Given the description of an element on the screen output the (x, y) to click on. 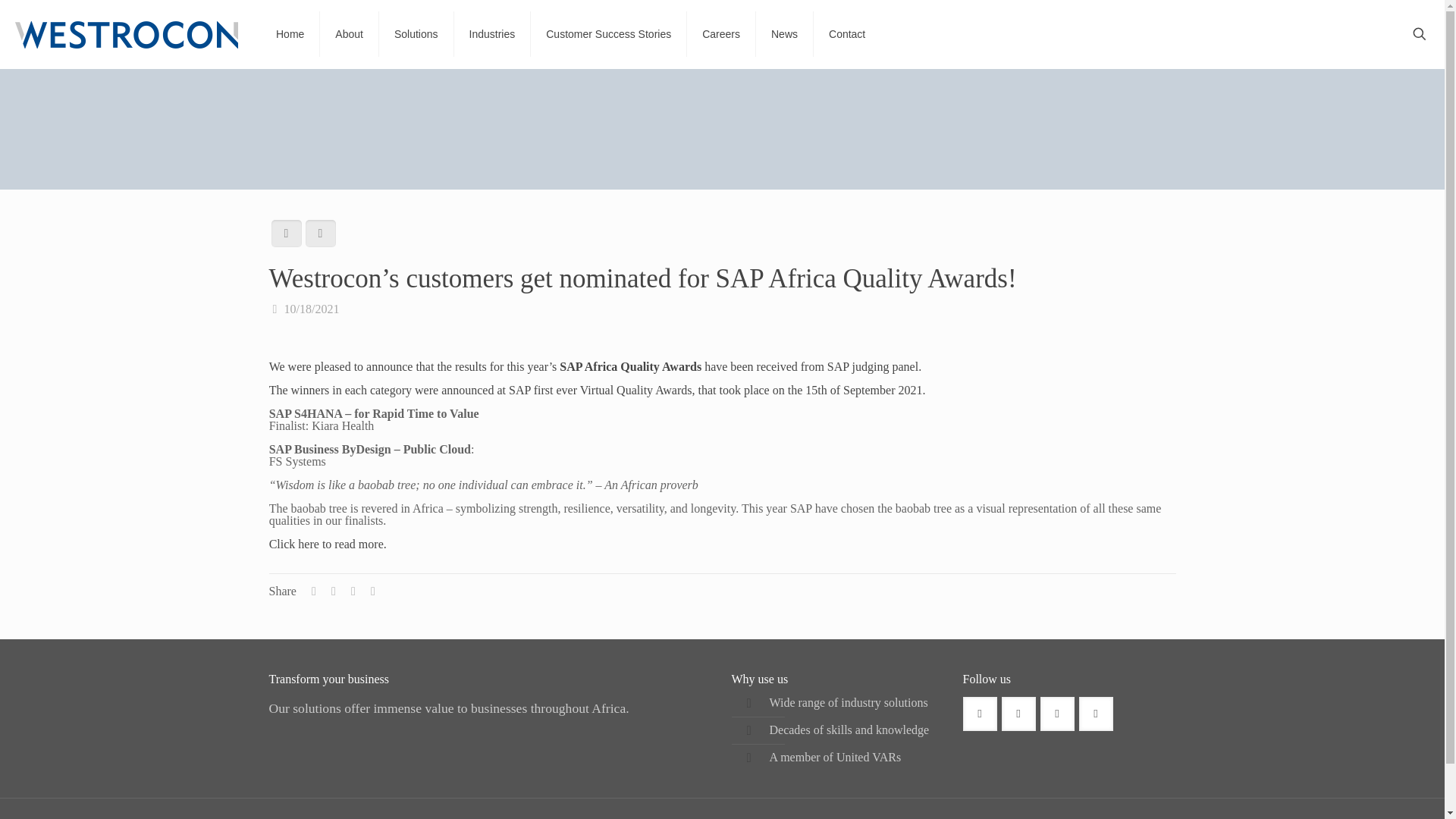
Careers (721, 33)
Customer Success Stories (609, 33)
Industries (492, 33)
Westrocon (126, 33)
Solutions (416, 33)
Contact (846, 33)
